Given the description of an element on the screen output the (x, y) to click on. 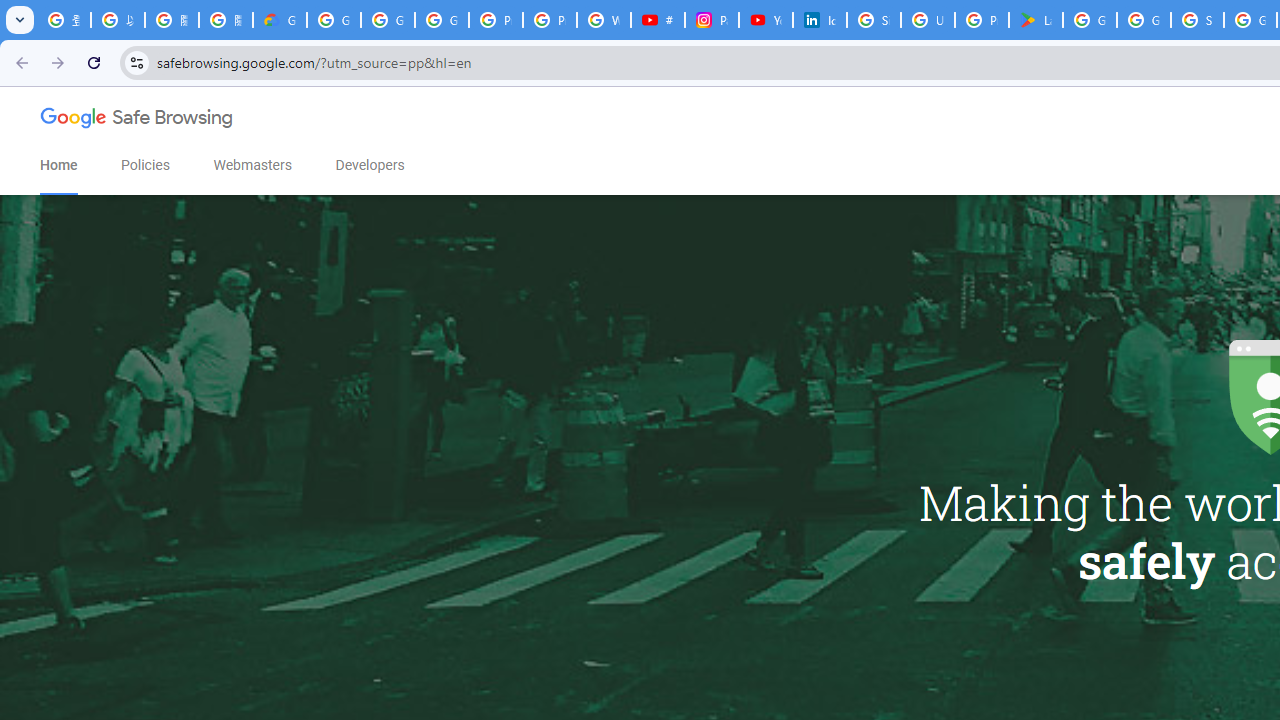
YouTube Culture & Trends - On The Rise: Handcam Videos (765, 20)
Google Safe Browsing (137, 121)
Developers (369, 165)
Webmasters (251, 165)
#nbabasketballhighlights - YouTube (657, 20)
Sign in - Google Accounts (1197, 20)
Google Workspace - Specific Terms (1144, 20)
